Given the description of an element on the screen output the (x, y) to click on. 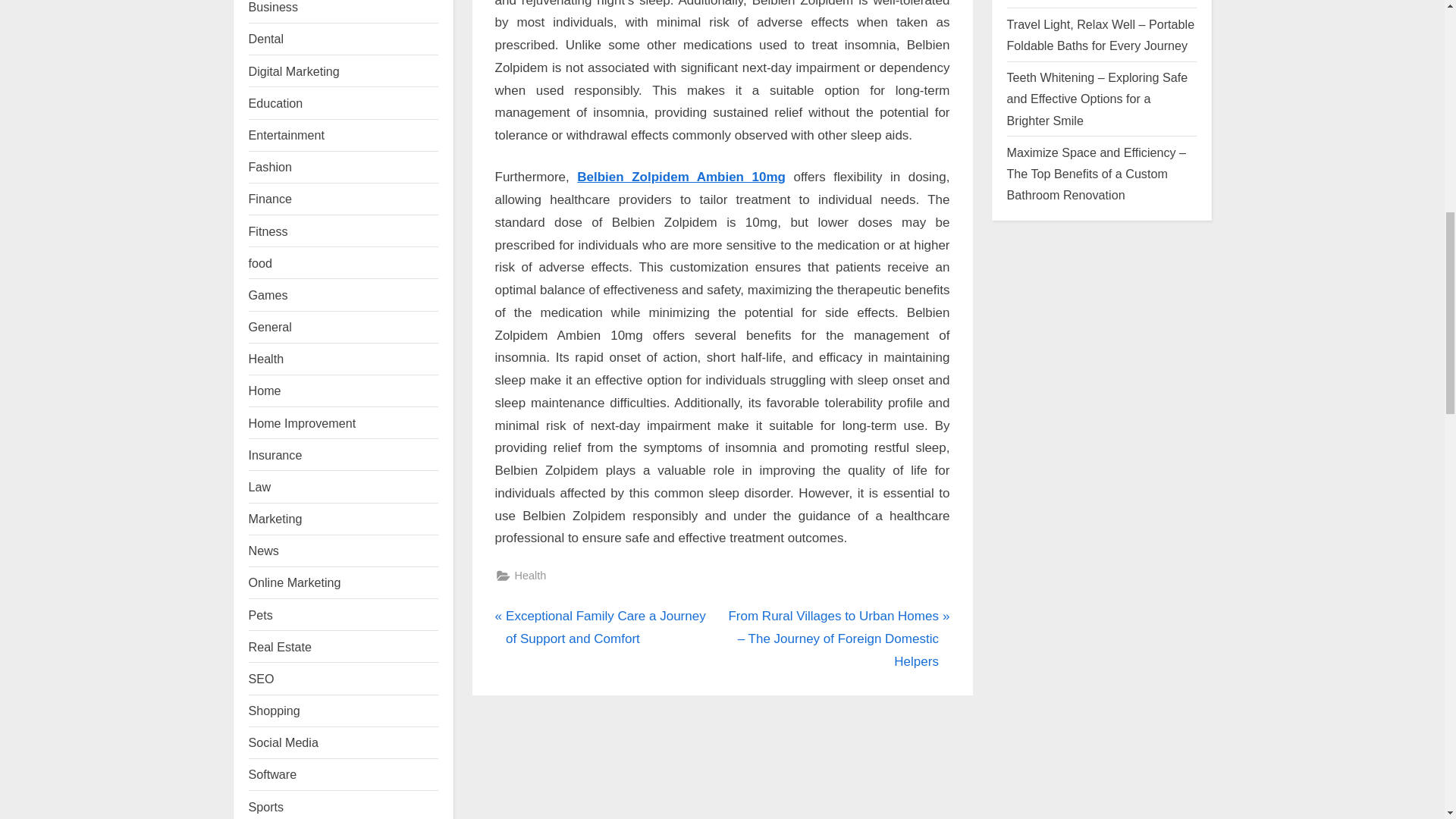
Fitness (268, 231)
Law (259, 486)
General (270, 326)
Insurance (275, 454)
Home Improvement (302, 422)
Home (264, 390)
Health (265, 358)
Fashion (270, 166)
Digital Marketing (293, 70)
Entertainment (286, 134)
Education (275, 102)
Games (268, 295)
Dental (265, 38)
Finance (270, 198)
